Given the description of an element on the screen output the (x, y) to click on. 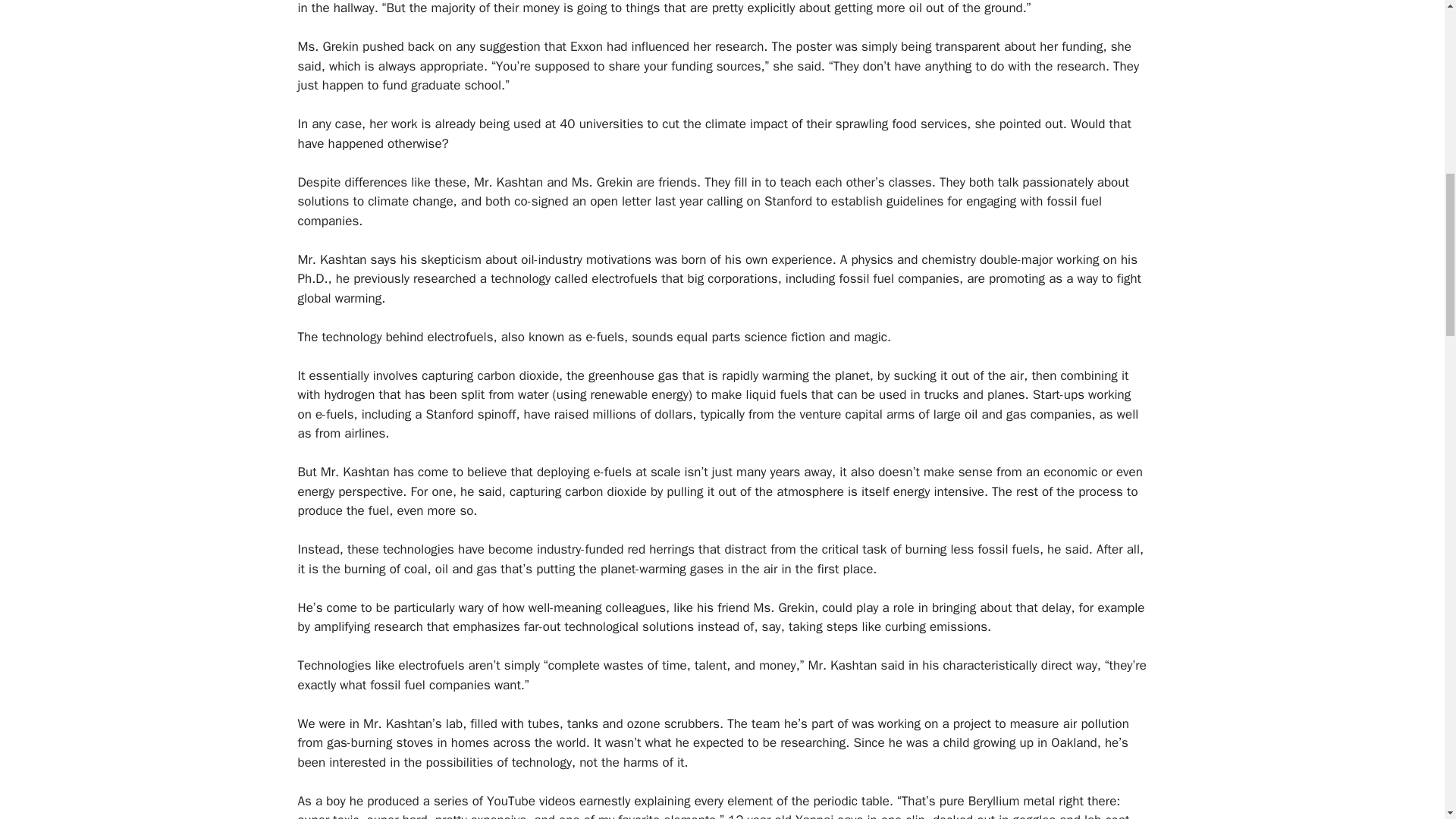
in one clip (895, 815)
an open letter (611, 201)
Scroll back to top (1406, 720)
